Given the description of an element on the screen output the (x, y) to click on. 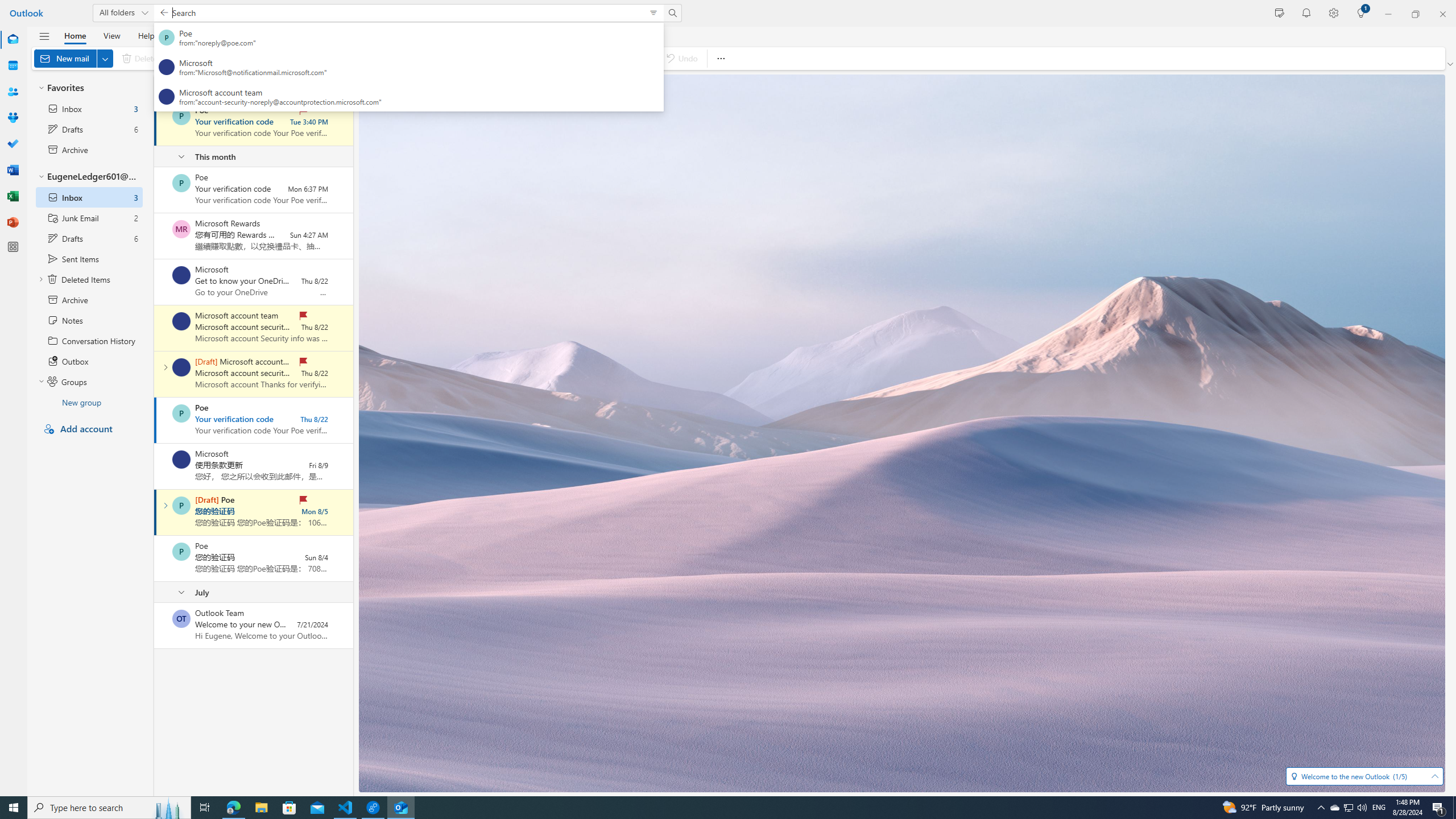
Undo (681, 58)
Sorted: By Date (336, 86)
Report (248, 58)
Calendar (12, 65)
Discover groups (611, 58)
More options (720, 58)
Word (12, 169)
System (6, 6)
System (6, 6)
Expand to see more New options (104, 58)
